Given the description of an element on the screen output the (x, y) to click on. 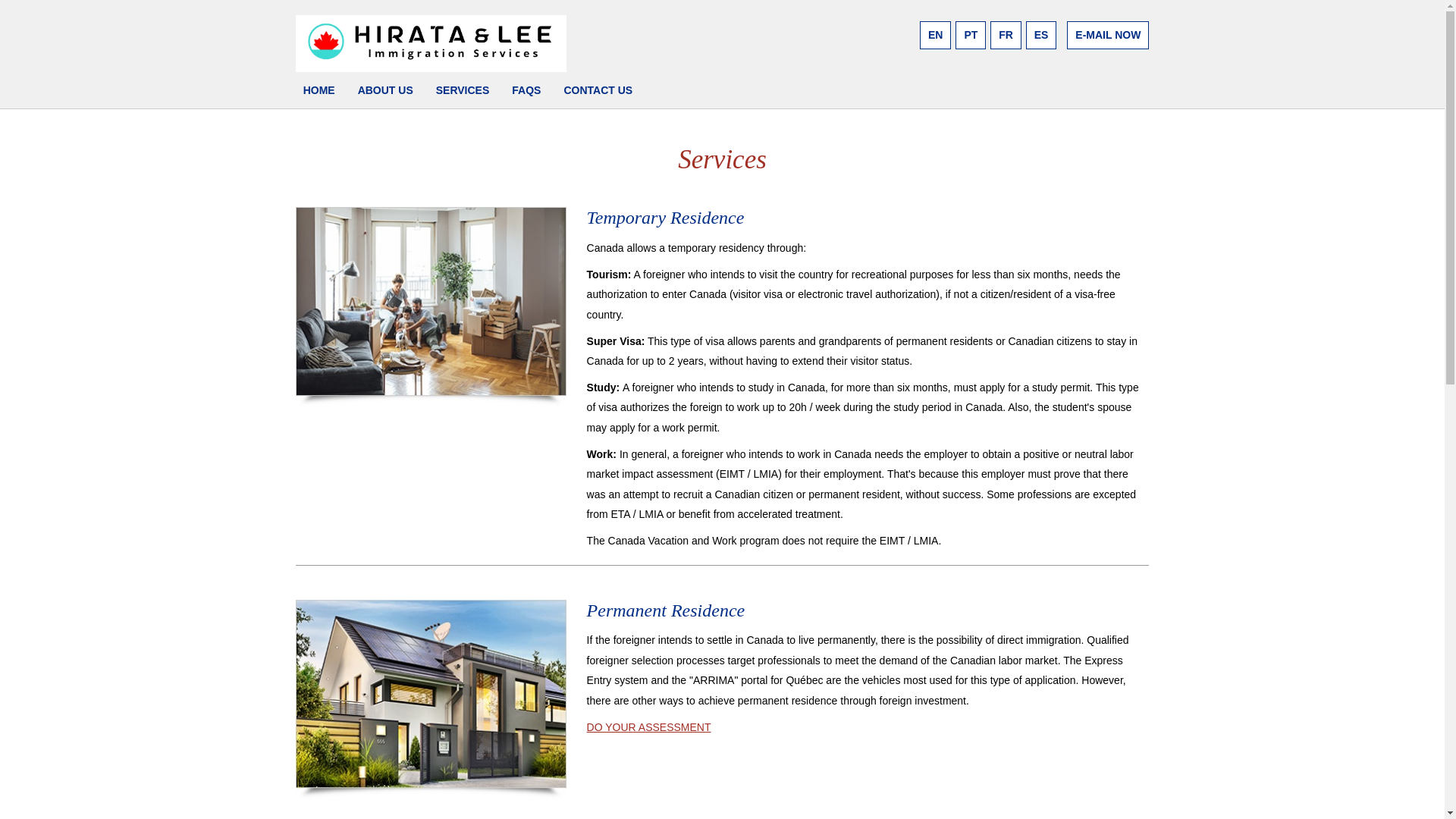
EN (935, 35)
HOME (318, 89)
FR (1006, 35)
E-MAIL NOW (1107, 35)
ES (1041, 35)
DO YOUR ASSESSMENT (648, 727)
FAQS (525, 89)
SERVICES (462, 89)
CONTACT US (598, 89)
PT (970, 35)
ABOUT US (385, 89)
